Given the description of an element on the screen output the (x, y) to click on. 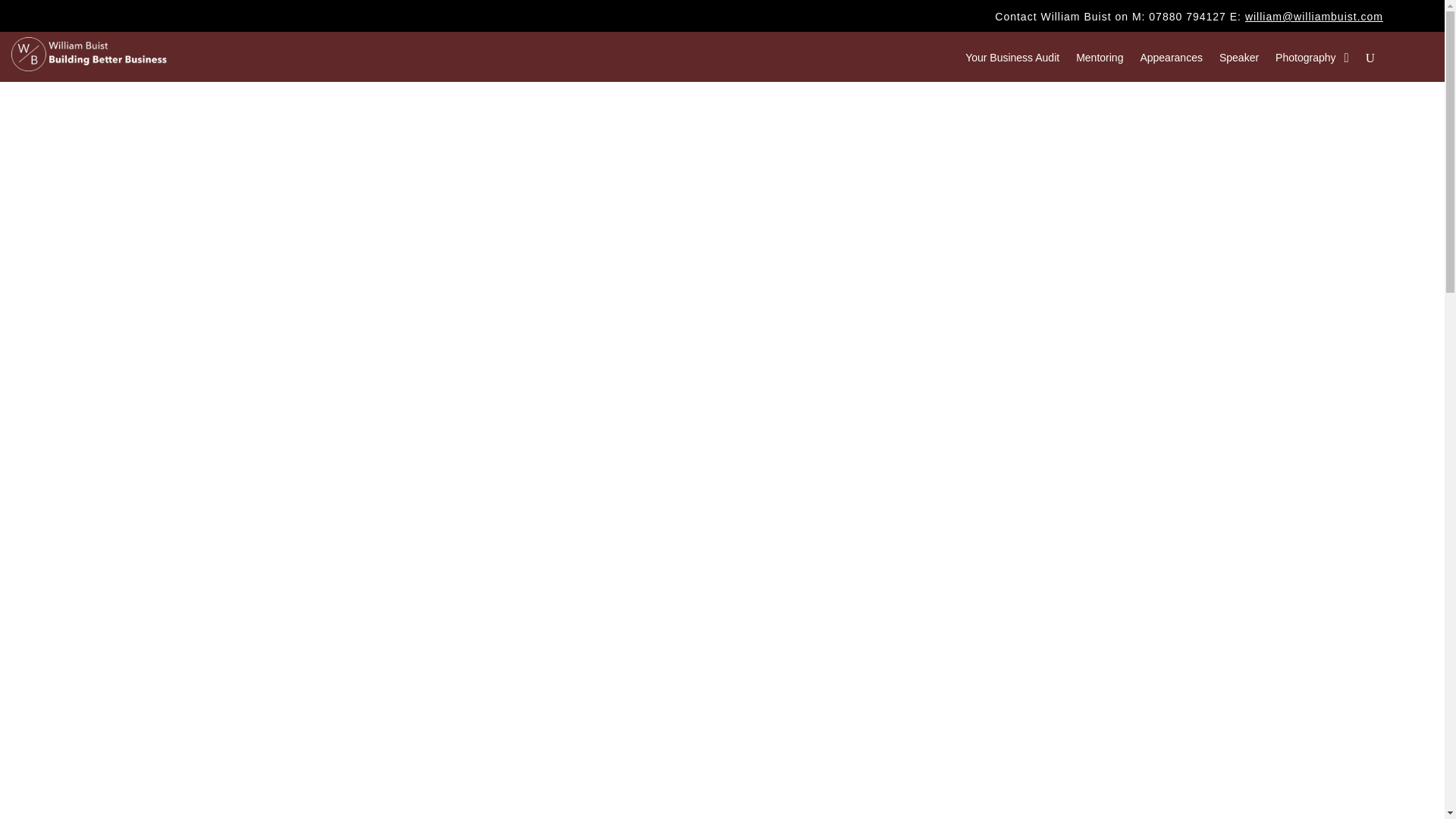
Your Business Audit (1012, 61)
Click to email (1313, 16)
Speaker (1239, 61)
Photography (1305, 61)
Mentoring (1098, 61)
Appearances (1171, 61)
